Given the description of an element on the screen output the (x, y) to click on. 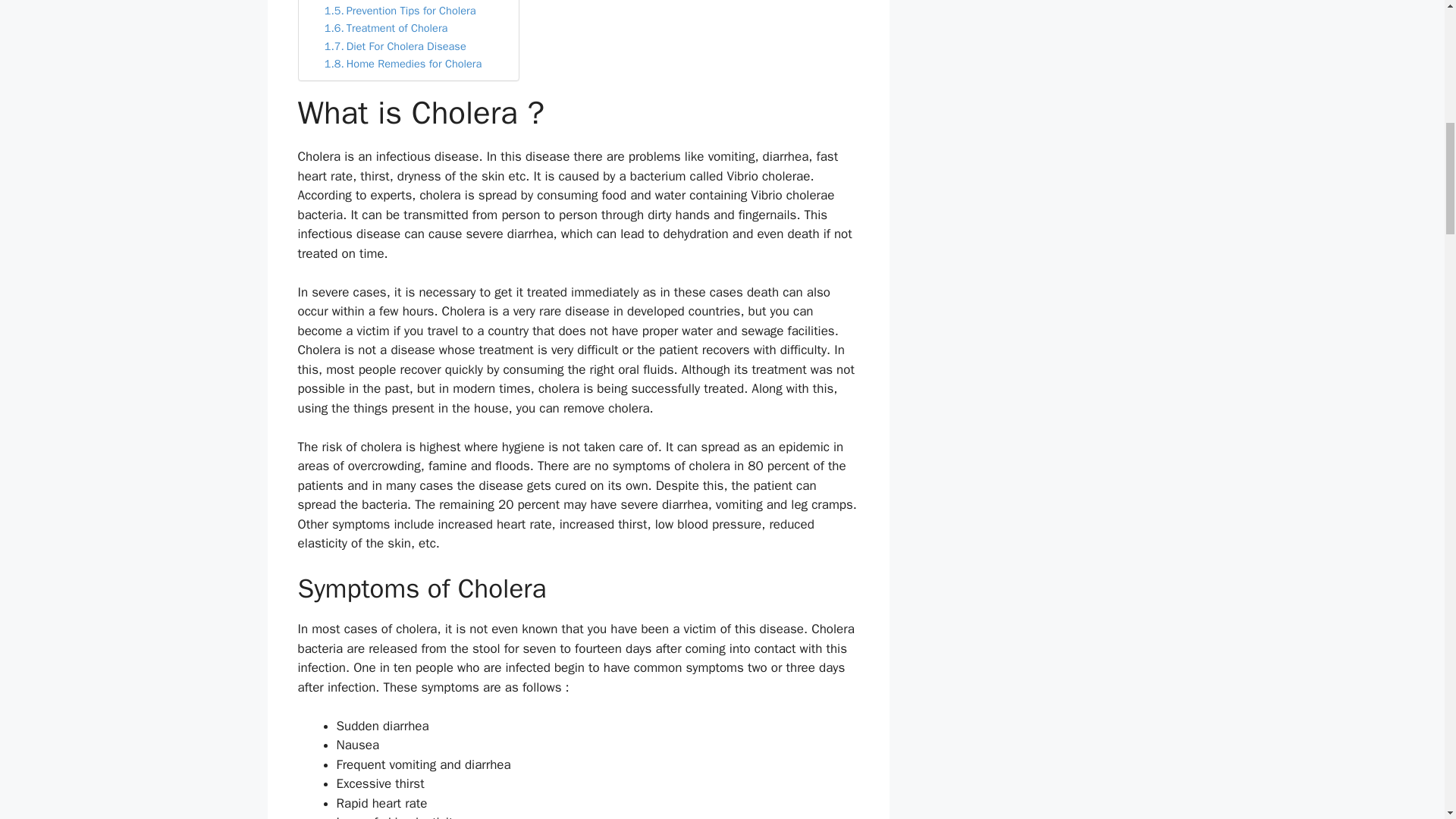
Prevention Tips for Cholera (400, 10)
Home Remedies for Cholera (402, 63)
Diet For Cholera Disease (394, 46)
Risk Factor of Cholera (388, 1)
